Given the description of an element on the screen output the (x, y) to click on. 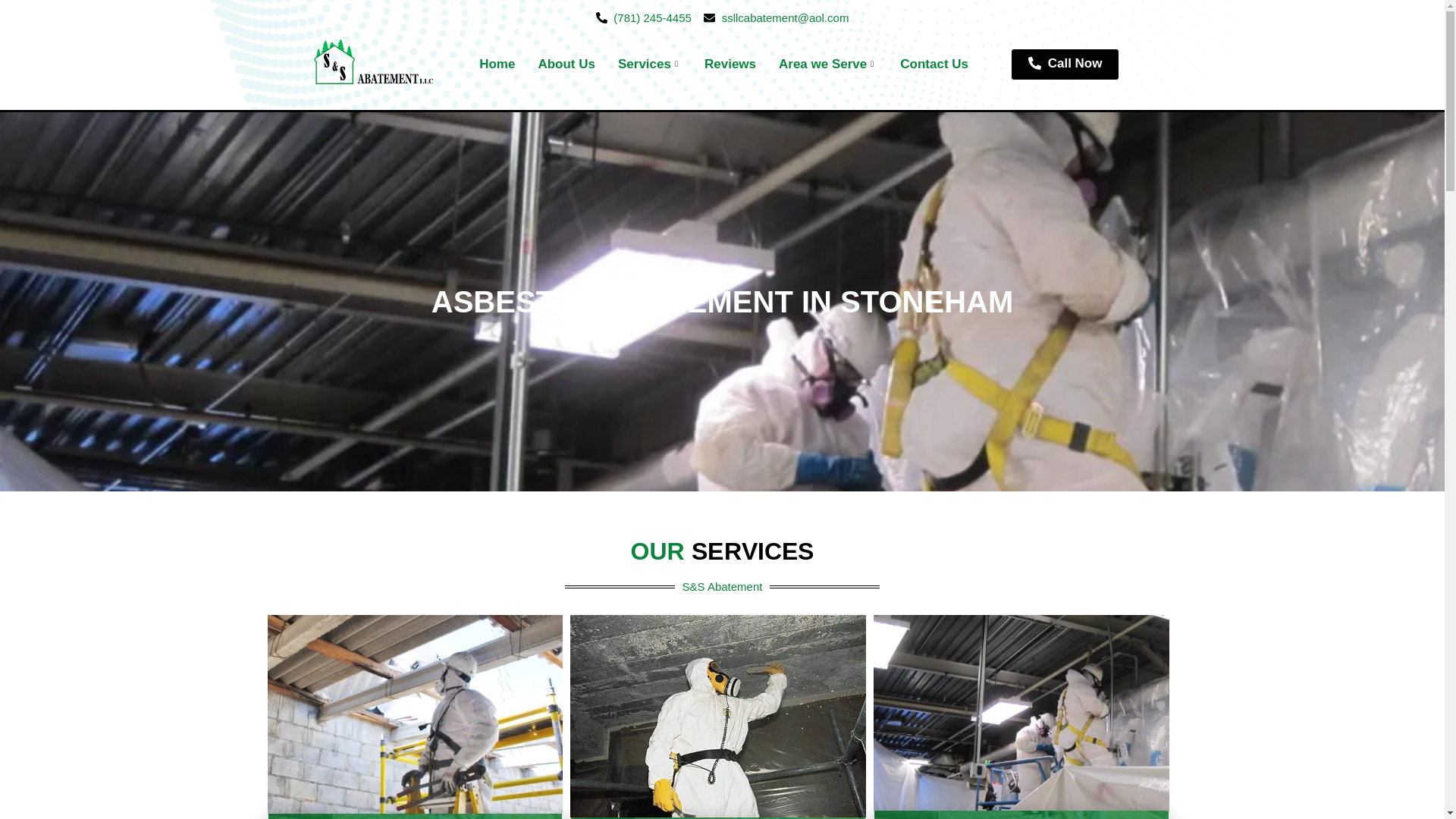
Contact Us (933, 64)
Home (496, 64)
Area we Serve (827, 64)
Reviews (730, 64)
About Us (566, 64)
Services (650, 64)
